Given the description of an element on the screen output the (x, y) to click on. 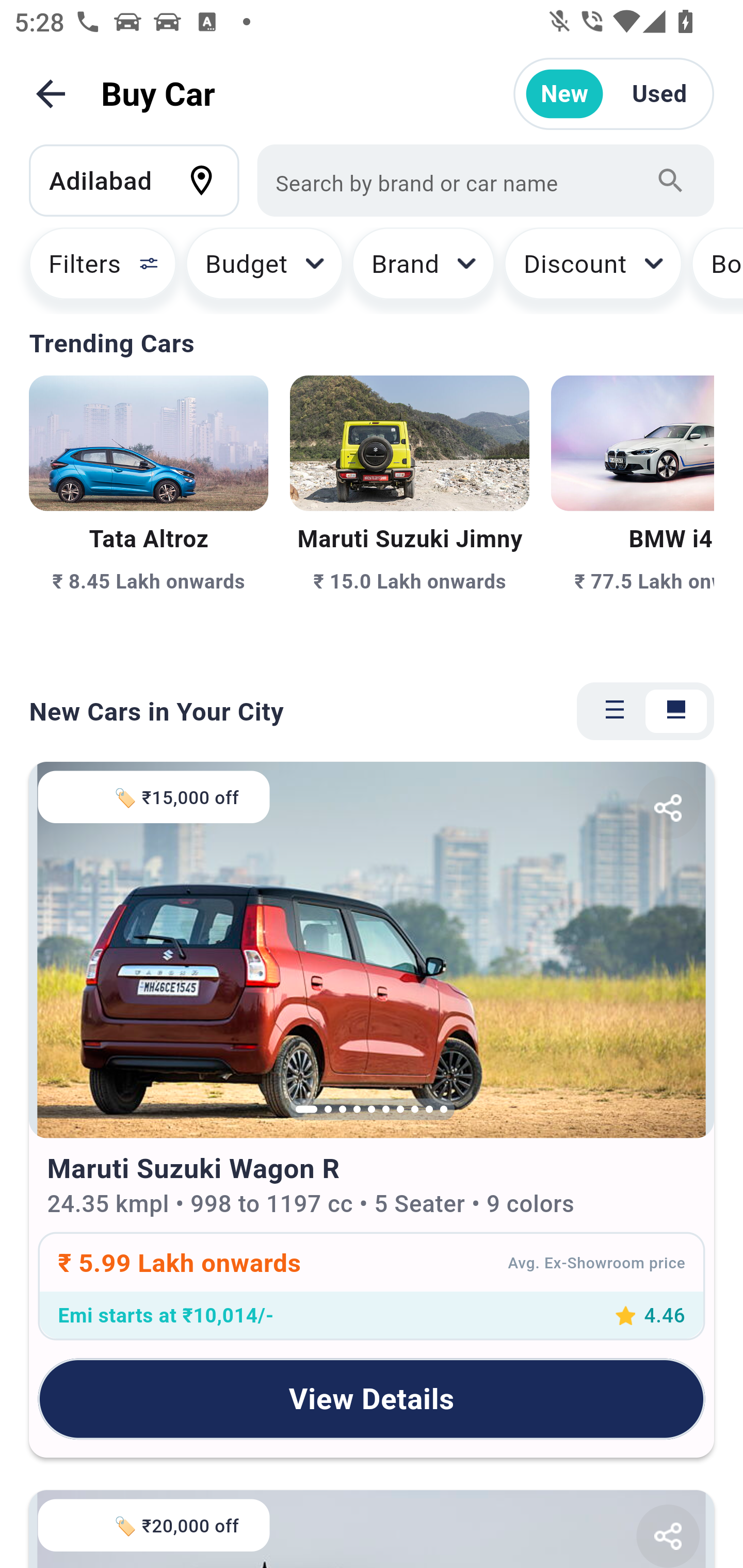
Back (50, 93)
New (564, 93)
Used (659, 93)
Adilabad (142, 180)
Filters (93, 270)
Budget (264, 270)
Brand (423, 270)
Discount (592, 270)
₹ 8.45 Lakh onwards Tata Altroz (148, 515)
₹ 15.0 Lakh onwards Maruti Suzuki Jimny (409, 515)
₹ 77.5 Lakh onwards BMW i4 (632, 515)
Tab 1 of 2 (614, 710)
Tab 2 of 2 (675, 710)
View Details (371, 1398)
